Given the description of an element on the screen output the (x, y) to click on. 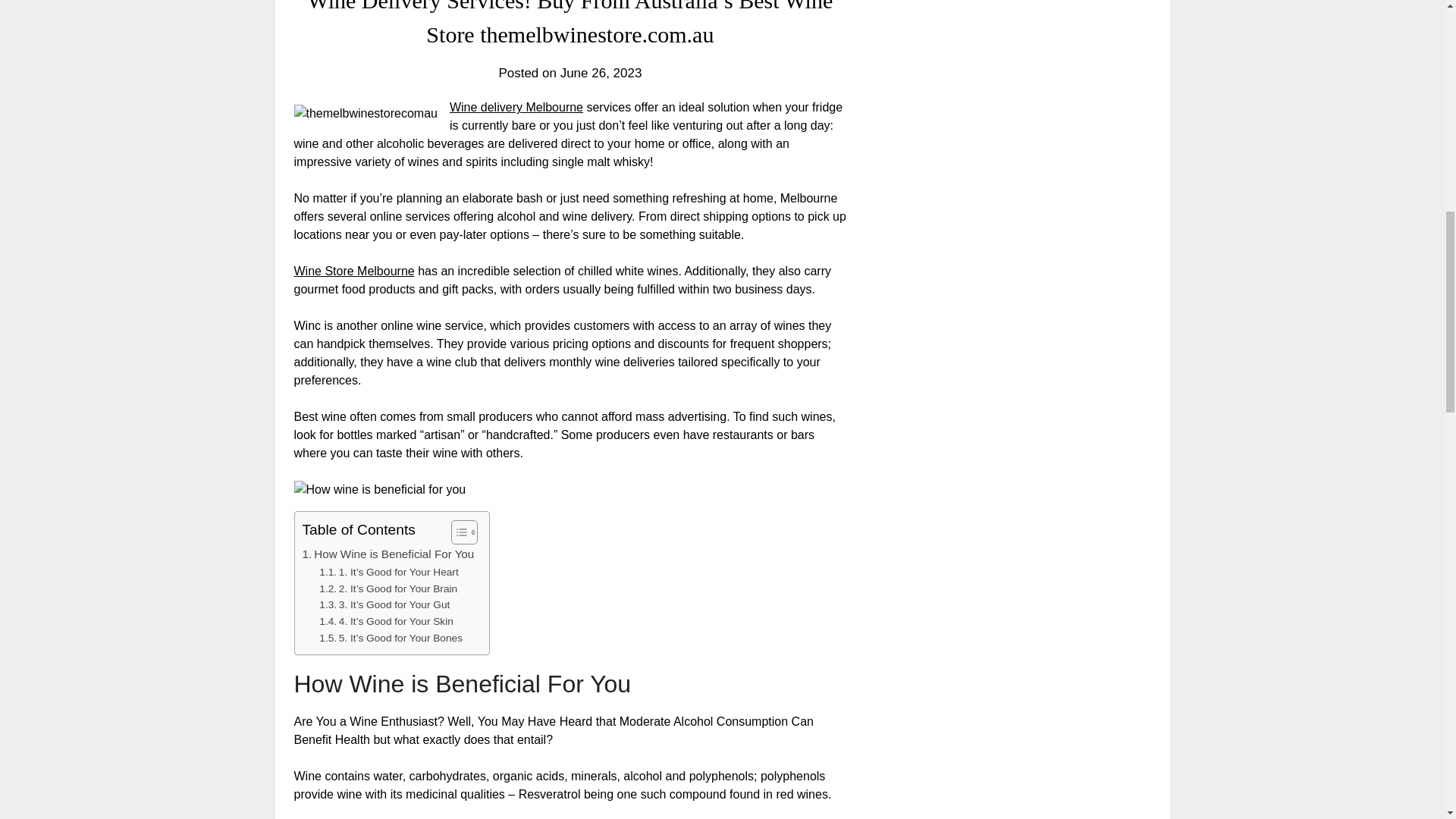
Wine Store Melbourne (354, 270)
How Wine is Beneficial For You (387, 554)
How Wine is Beneficial For You (387, 554)
Wine delivery Melbourne (516, 106)
